Given the description of an element on the screen output the (x, y) to click on. 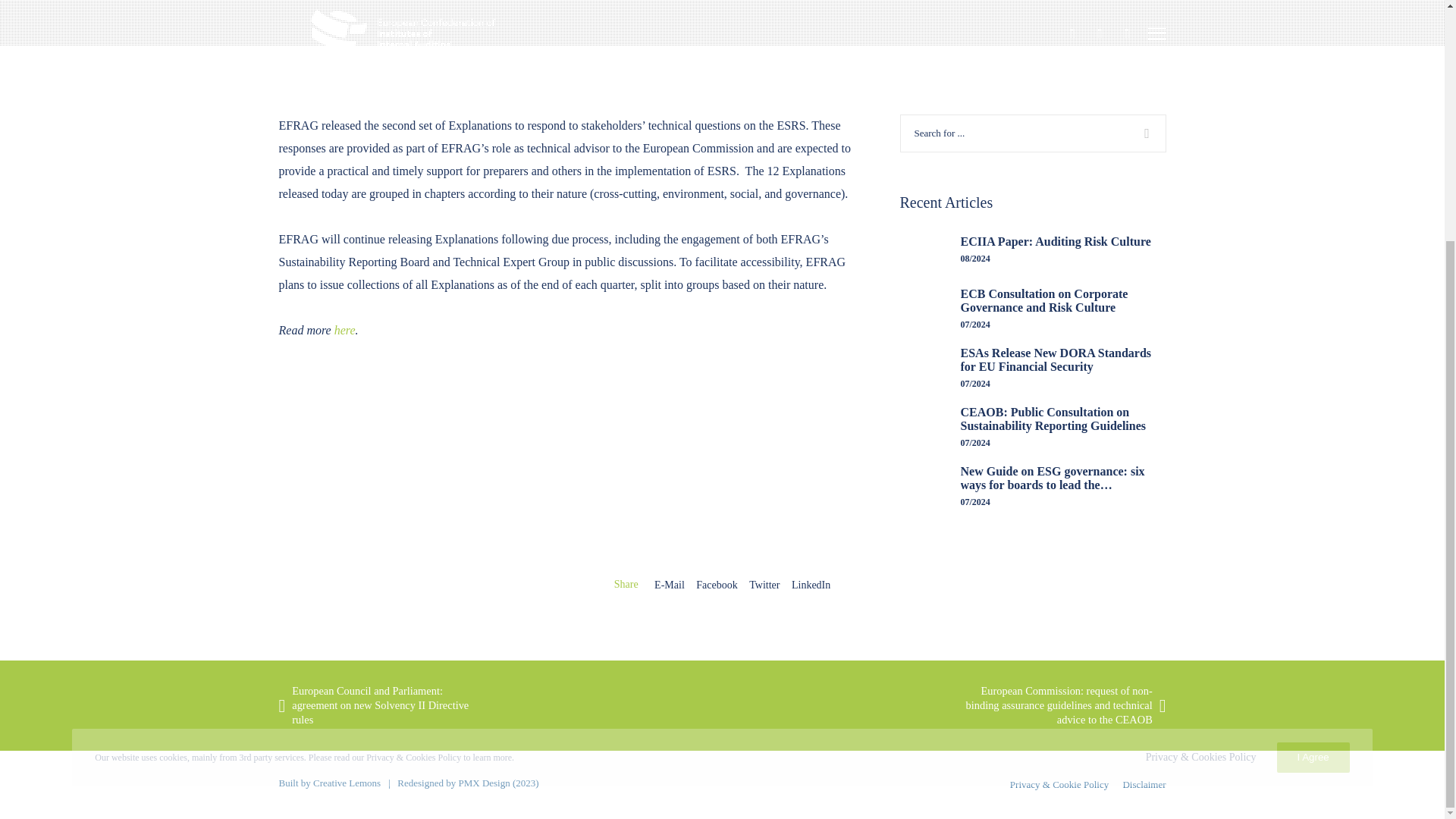
EFRAG: second set of technical Explanations on ESRS (668, 584)
EFRAG: second set of technical Explanations on ESRS (715, 584)
here (344, 329)
Creative Lemons (346, 782)
E-Mail (668, 584)
Facebook (715, 584)
ECIIA Paper: Auditing Risk Culture (1032, 248)
LinkedIn (810, 584)
